Given the description of an element on the screen output the (x, y) to click on. 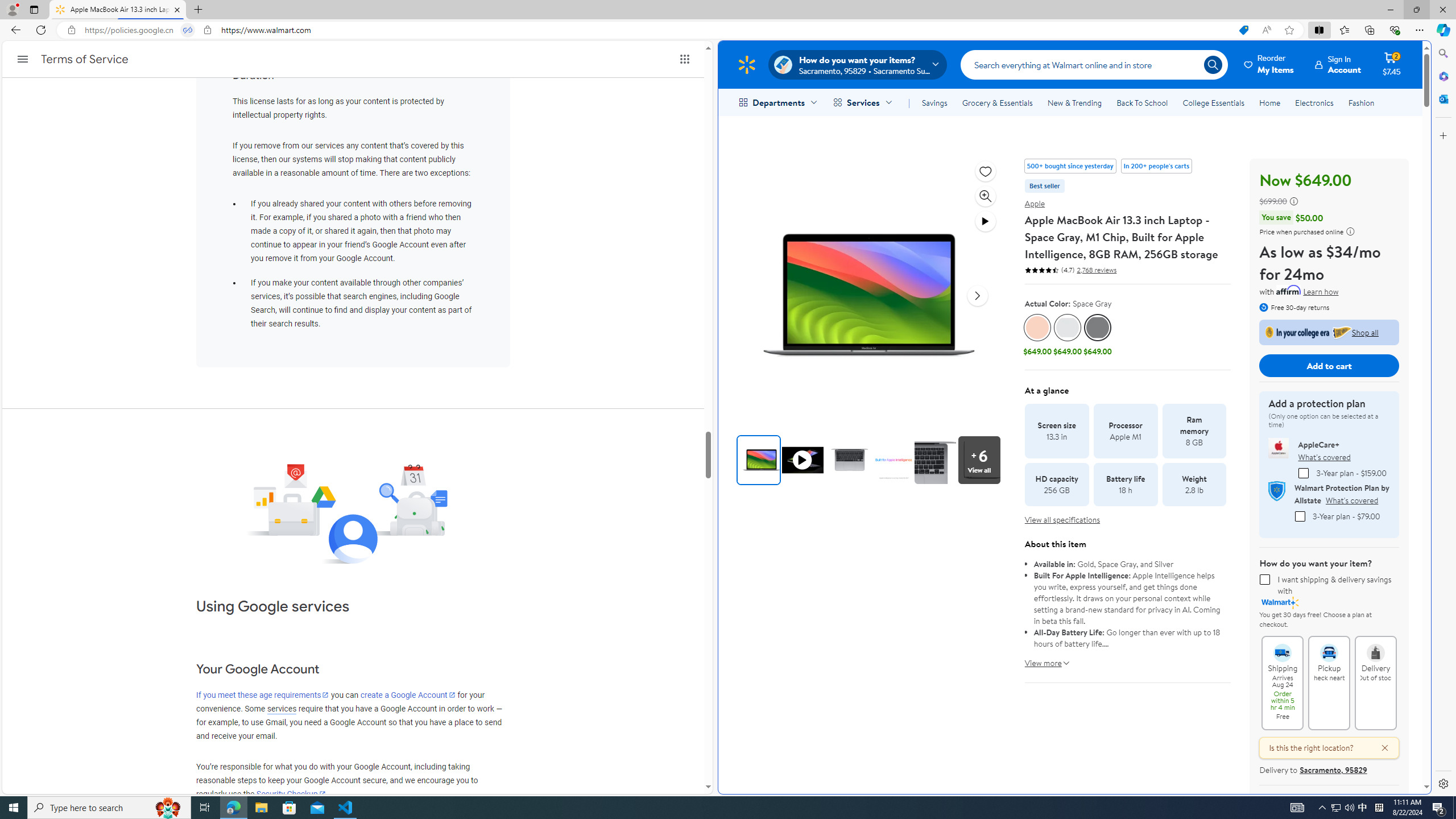
Close question (1379, 748)
View all media (982, 459)
Apple (1035, 203)
2,768 reviews (1095, 269)
Back To School (1141, 102)
View video (985, 221)
Zoom image modal (985, 195)
New & Trending (1075, 102)
Delivery Out of stock (1375, 647)
